Given the description of an element on the screen output the (x, y) to click on. 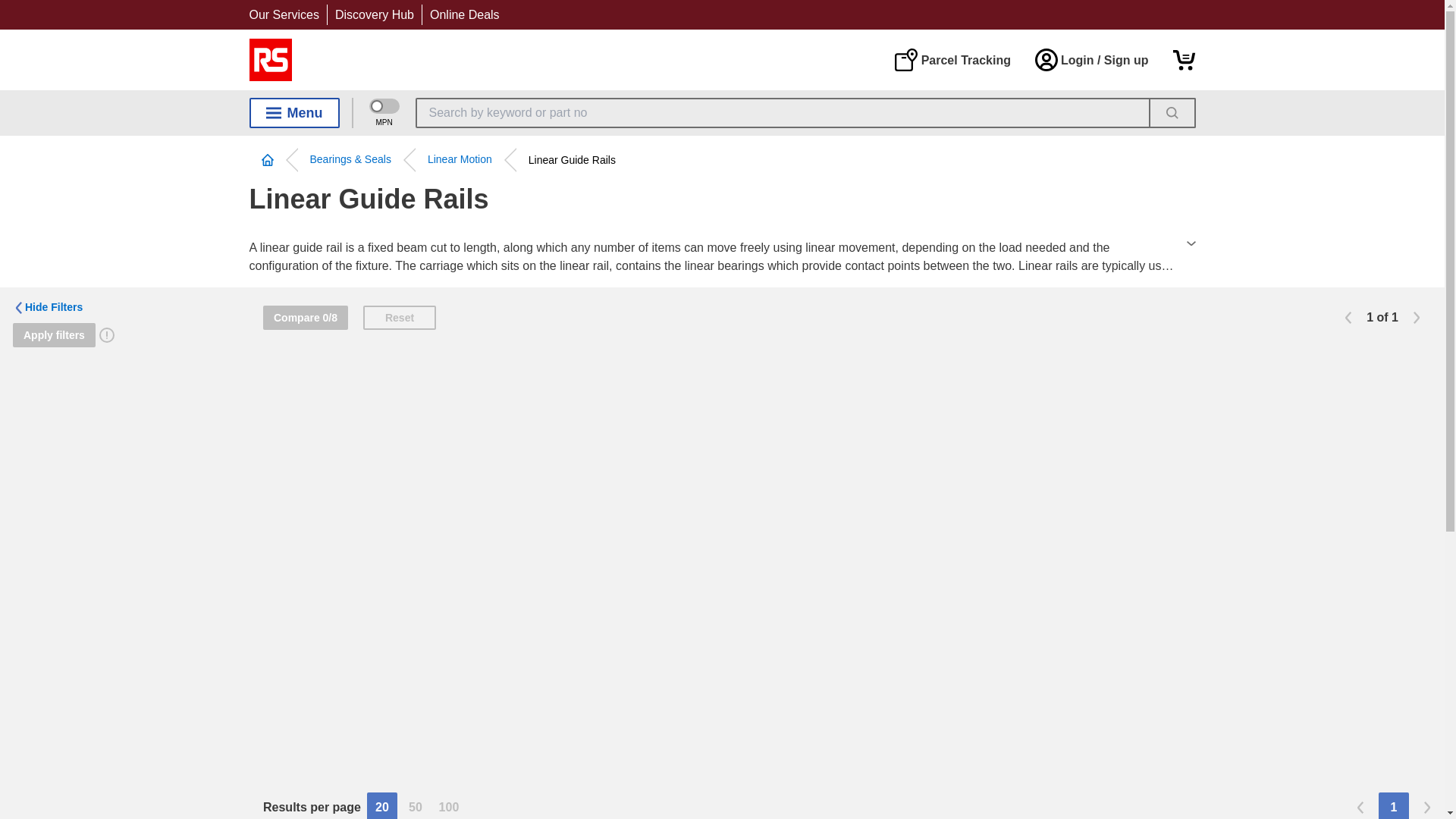
Menu (293, 112)
Discovery Hub (373, 14)
Parcel Tracking (951, 59)
Our Services (283, 14)
Online Deals (464, 14)
